Given the description of an element on the screen output the (x, y) to click on. 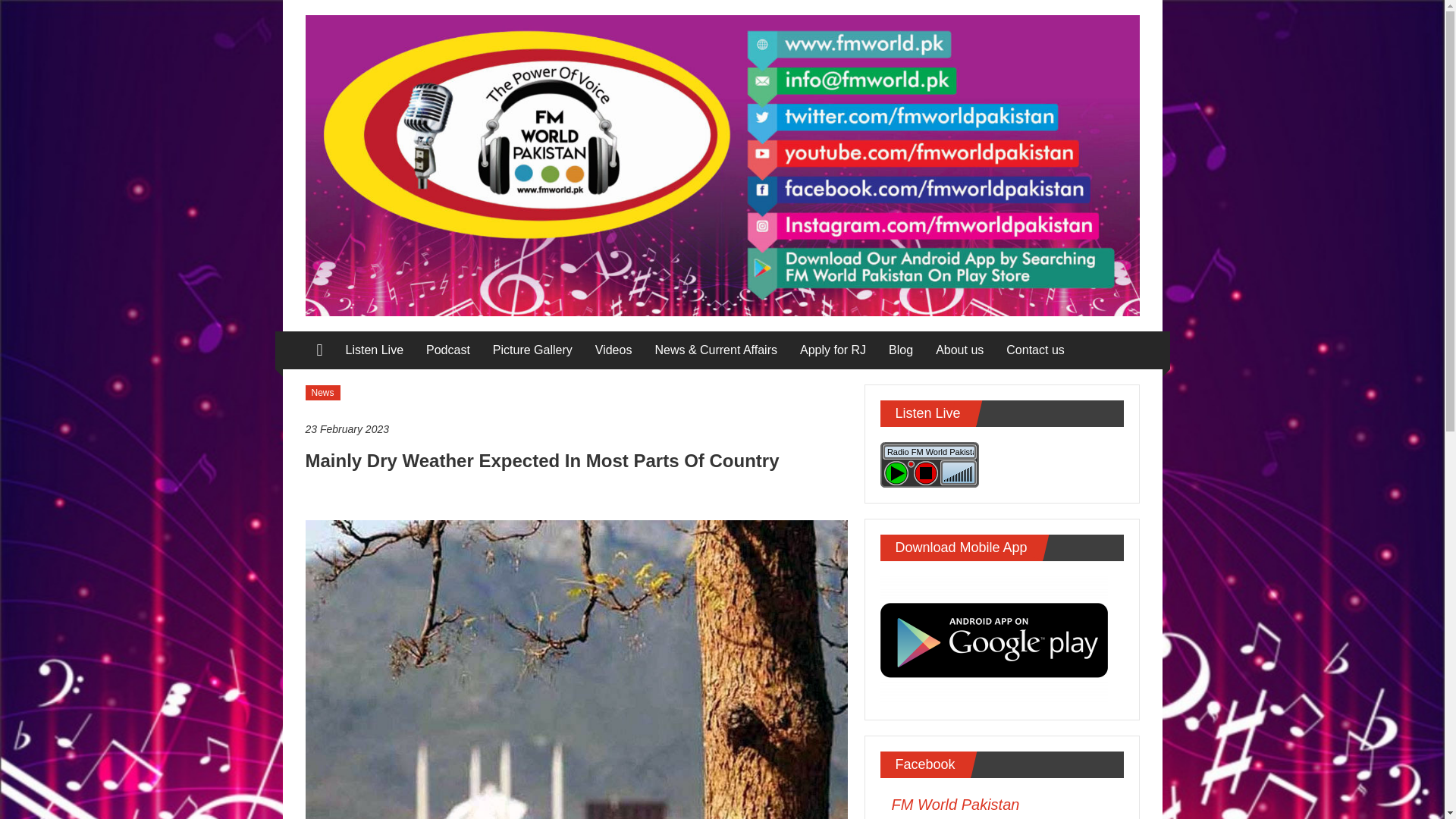
Contact us (1035, 350)
FM World Pakistan (955, 804)
About us (960, 350)
Listen Live (375, 350)
News (321, 392)
Picture Gallery (532, 350)
Videos (613, 350)
23 February 2023 (575, 429)
12:55 PM (575, 429)
Podcast (448, 350)
